Given the description of an element on the screen output the (x, y) to click on. 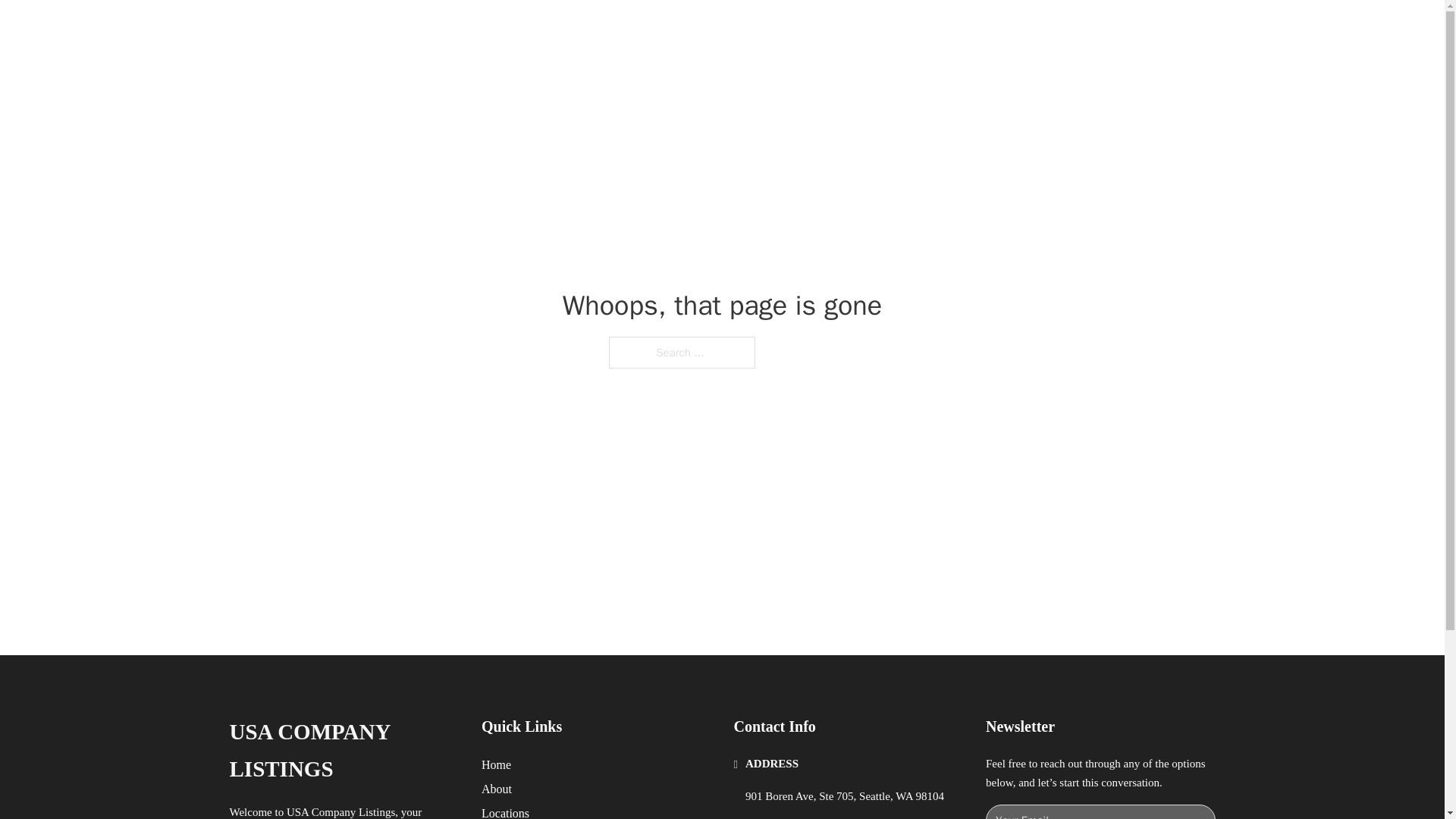
Home (496, 764)
USA COMPANY LISTINGS (431, 28)
USA COMPANY LISTINGS (343, 750)
About (496, 788)
Locations (505, 811)
HOME (919, 29)
LOCATIONS (990, 29)
